Given the description of an element on the screen output the (x, y) to click on. 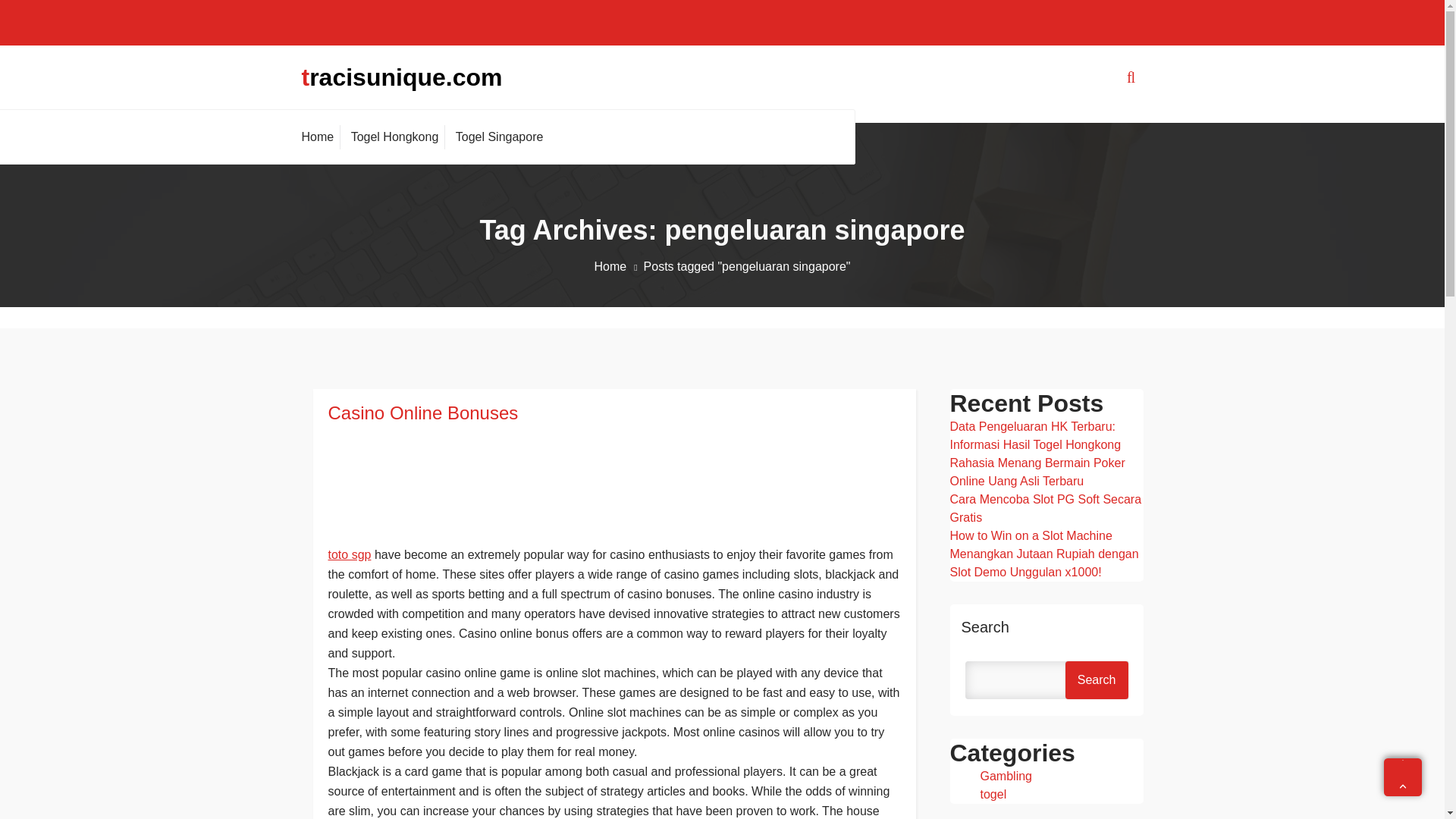
Data Pengeluaran HK Terbaru: Informasi Hasil Togel Hongkong (1035, 435)
Home (320, 136)
Togel Singapore (499, 136)
How to Win on a Slot Machine (1030, 535)
Gambling (1004, 775)
Cara Mencoba Slot PG Soft Secara Gratis (1045, 508)
toto sgp (349, 554)
Togel Singapore (499, 136)
Togel Hongkong (394, 136)
Rahasia Menang Bermain Poker Online Uang Asli Terbaru (1036, 471)
Togel Hongkong (394, 136)
tracisunique.com (401, 77)
Search (1096, 679)
Home (618, 266)
Home (320, 136)
